Given the description of an element on the screen output the (x, y) to click on. 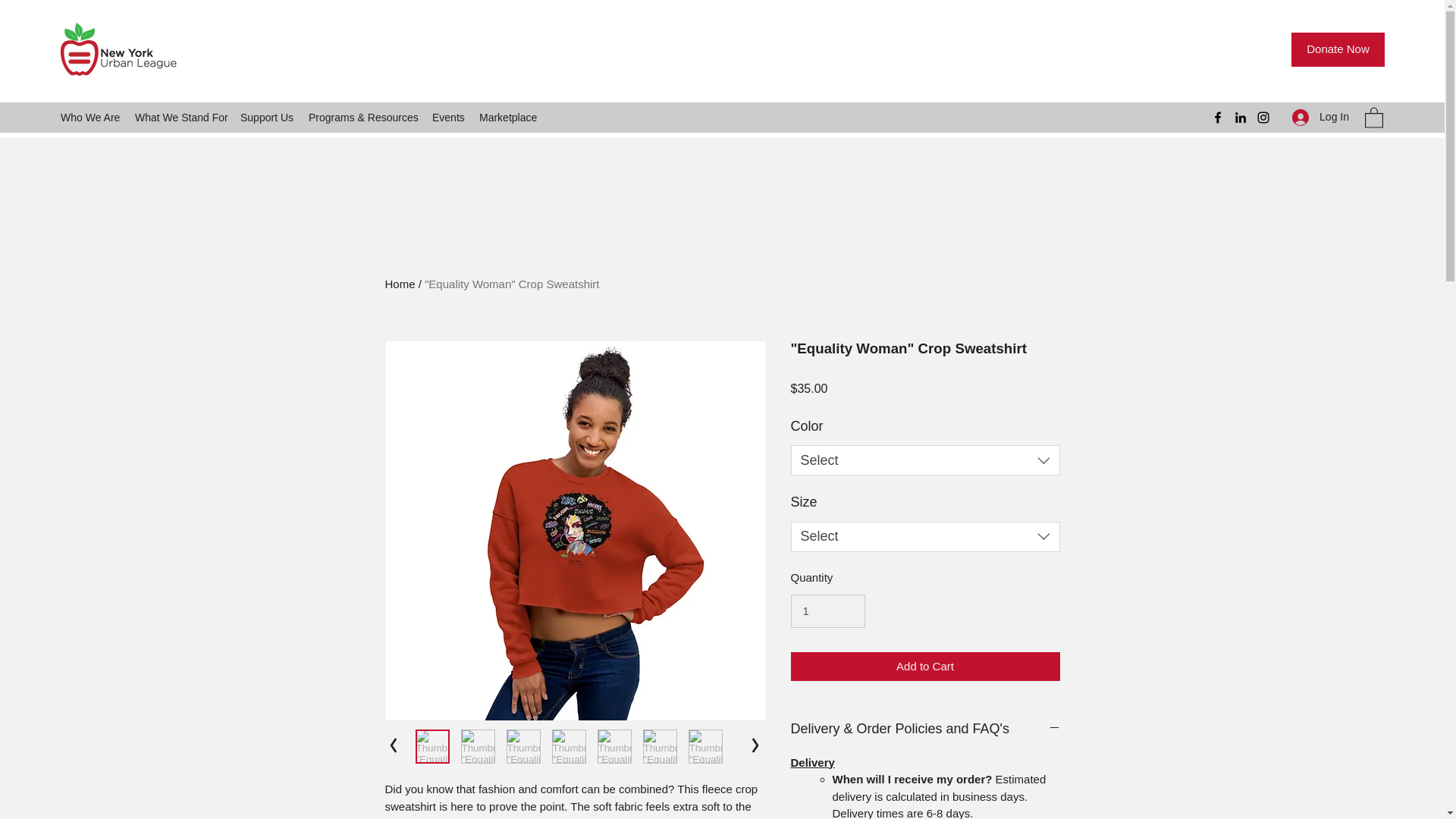
1 (827, 611)
Marketplace (507, 117)
Home (399, 283)
Donate Now (1337, 49)
Log In (1320, 117)
Events (448, 117)
"Equality Woman" Crop Sweatshirt (511, 283)
